Given the description of an element on the screen output the (x, y) to click on. 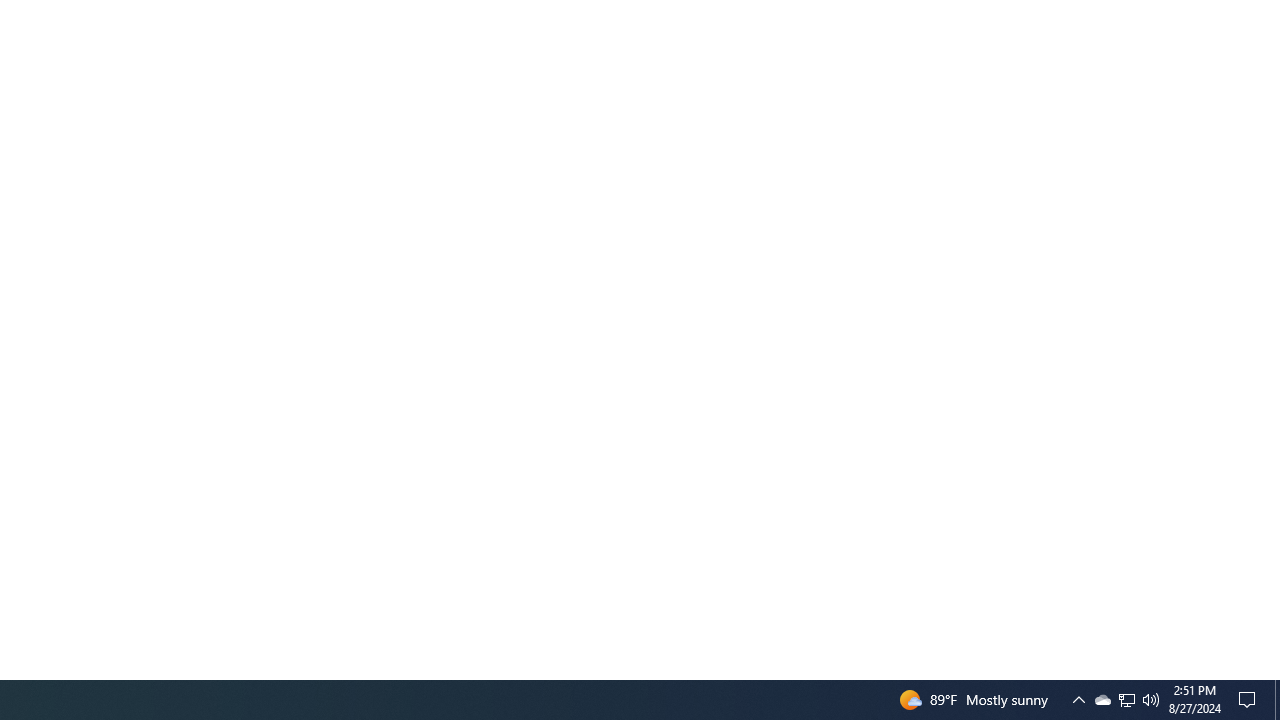
Show desktop (1277, 699)
Q2790: 100% (1151, 699)
Notification Chevron (1126, 699)
Action Center, No new notifications (1102, 699)
User Promoted Notification Area (1078, 699)
